Given the description of an element on the screen output the (x, y) to click on. 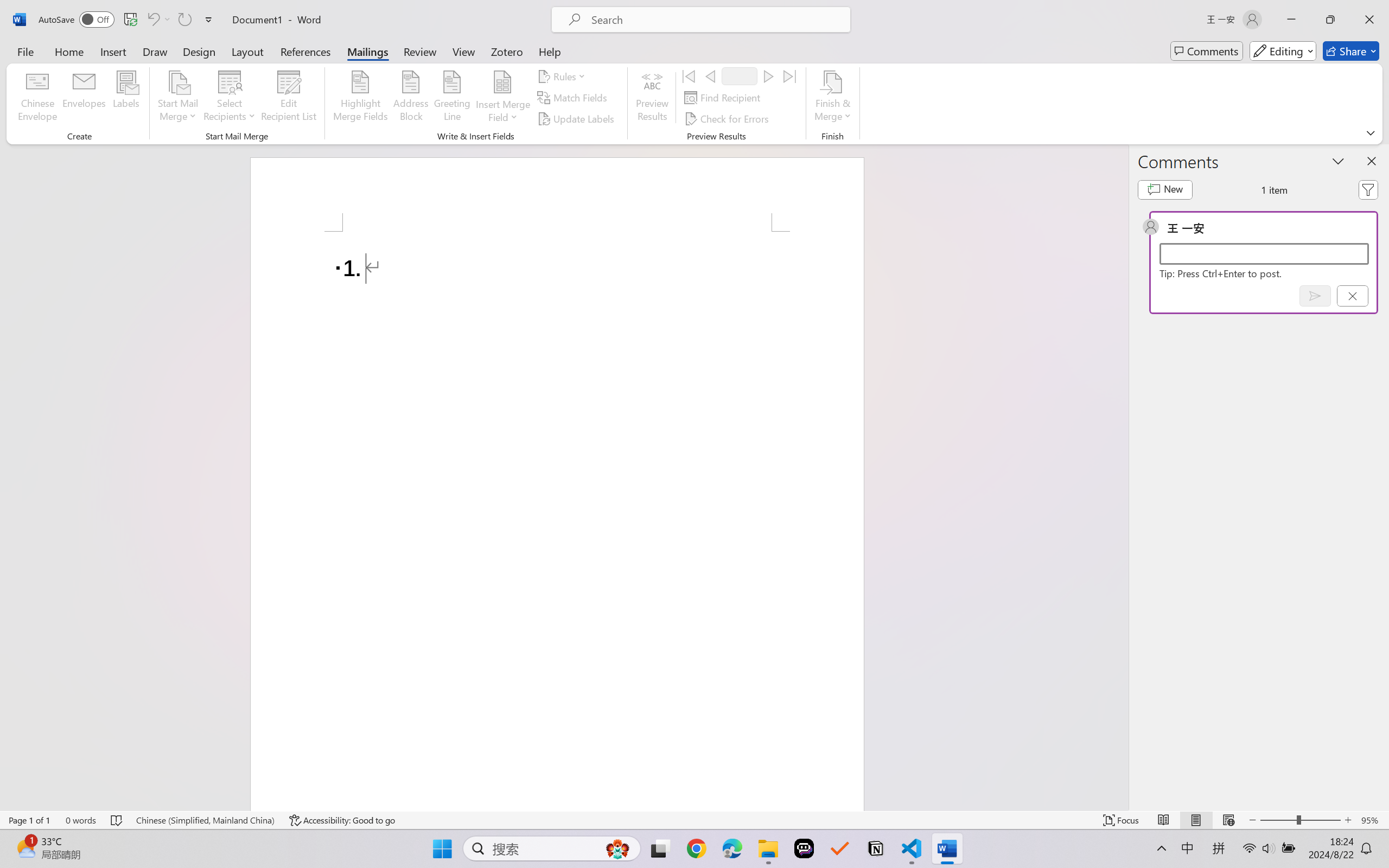
Justify (372, 71)
Increase Indent (393, 52)
Shadow (212, 71)
Text Box (518, 48)
Page down (1172, 428)
Swap "from" and "to" languages. (1271, 231)
Format Object... (699, 91)
Right Brace (572, 72)
Character Spacing (242, 71)
